Given the description of an element on the screen output the (x, y) to click on. 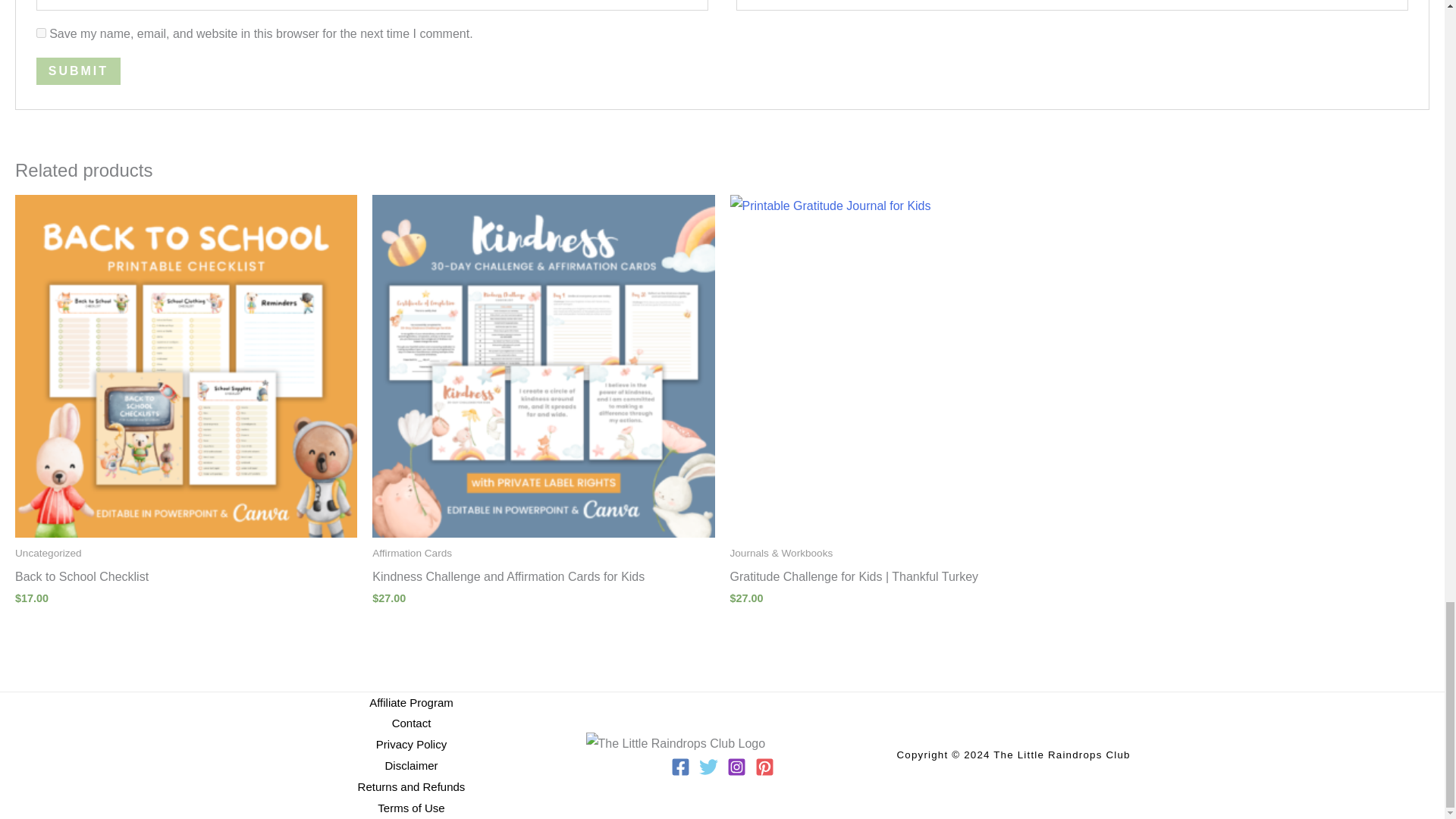
Submit (78, 71)
yes (41, 32)
Back to School Checklist (185, 580)
Submit (78, 71)
Kindness Challenge and Affirmation Cards for Kids (543, 580)
